Given the description of an element on the screen output the (x, y) to click on. 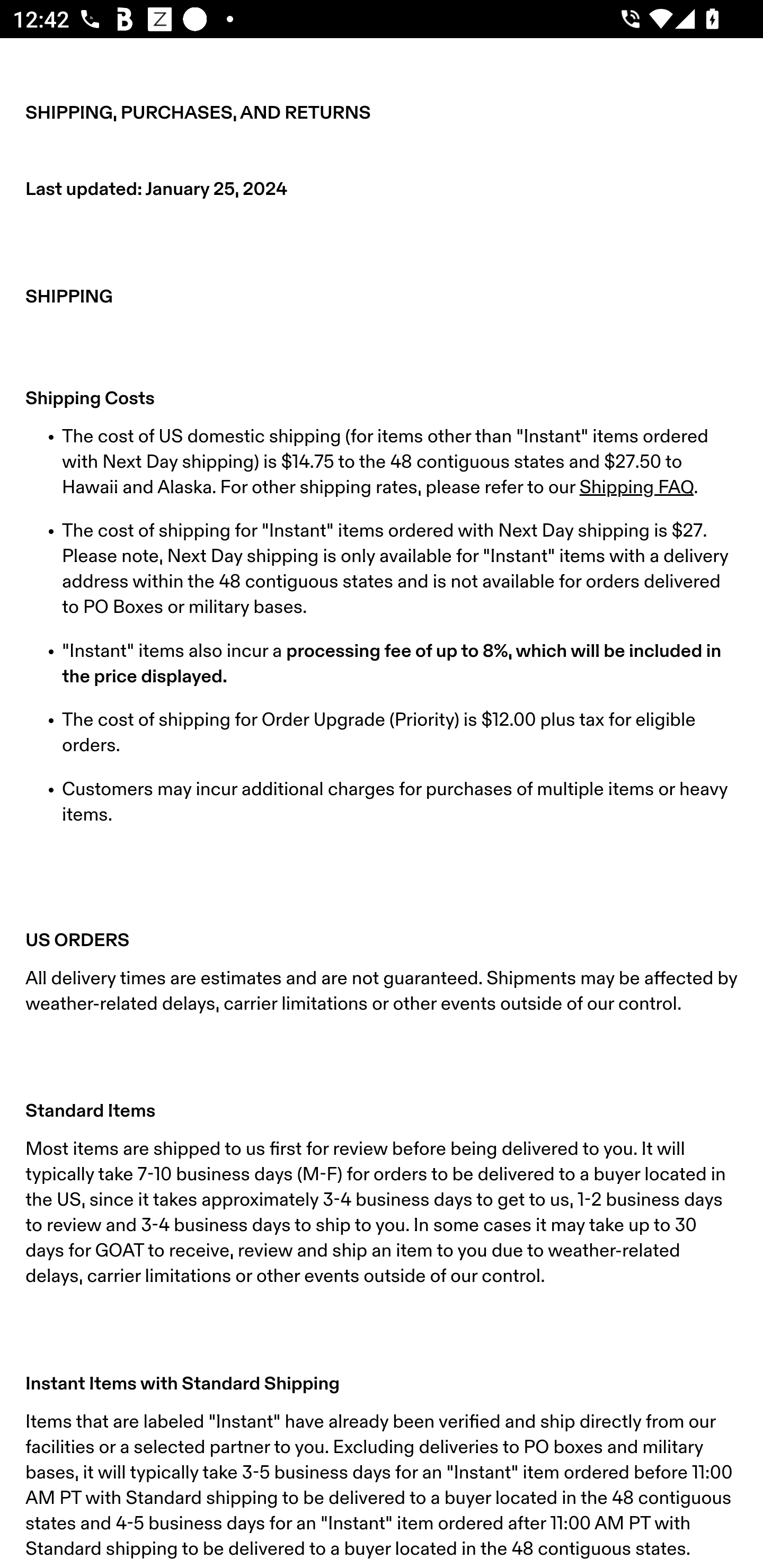
Shipping FAQ (636, 487)
